Given the description of an element on the screen output the (x, y) to click on. 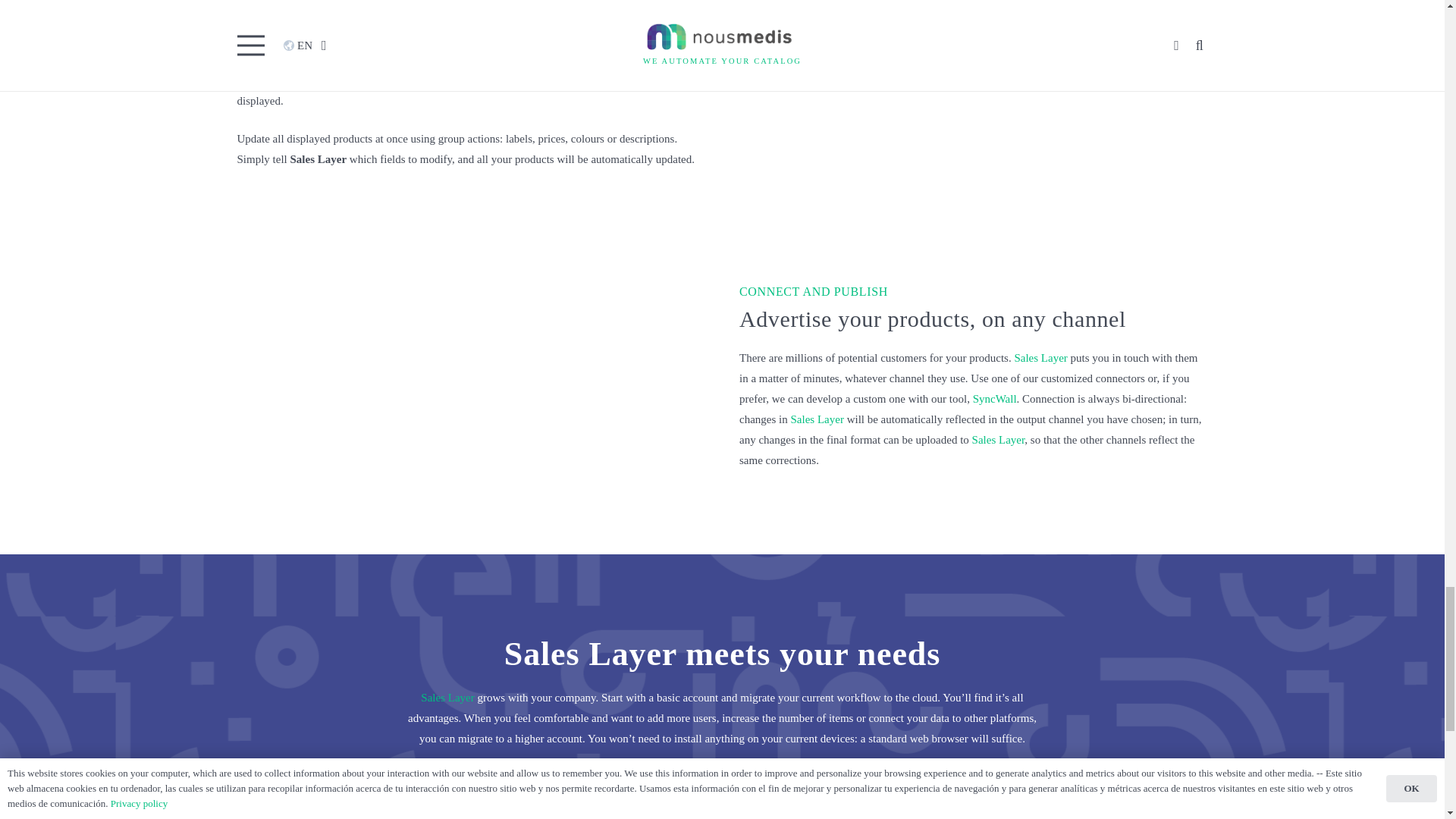
Sales Layer (447, 697)
Sales Layer (1040, 357)
Sales Layer (262, 19)
Sales Layer (816, 419)
SyncWall (994, 398)
Sales Layer (998, 439)
